Given the description of an element on the screen output the (x, y) to click on. 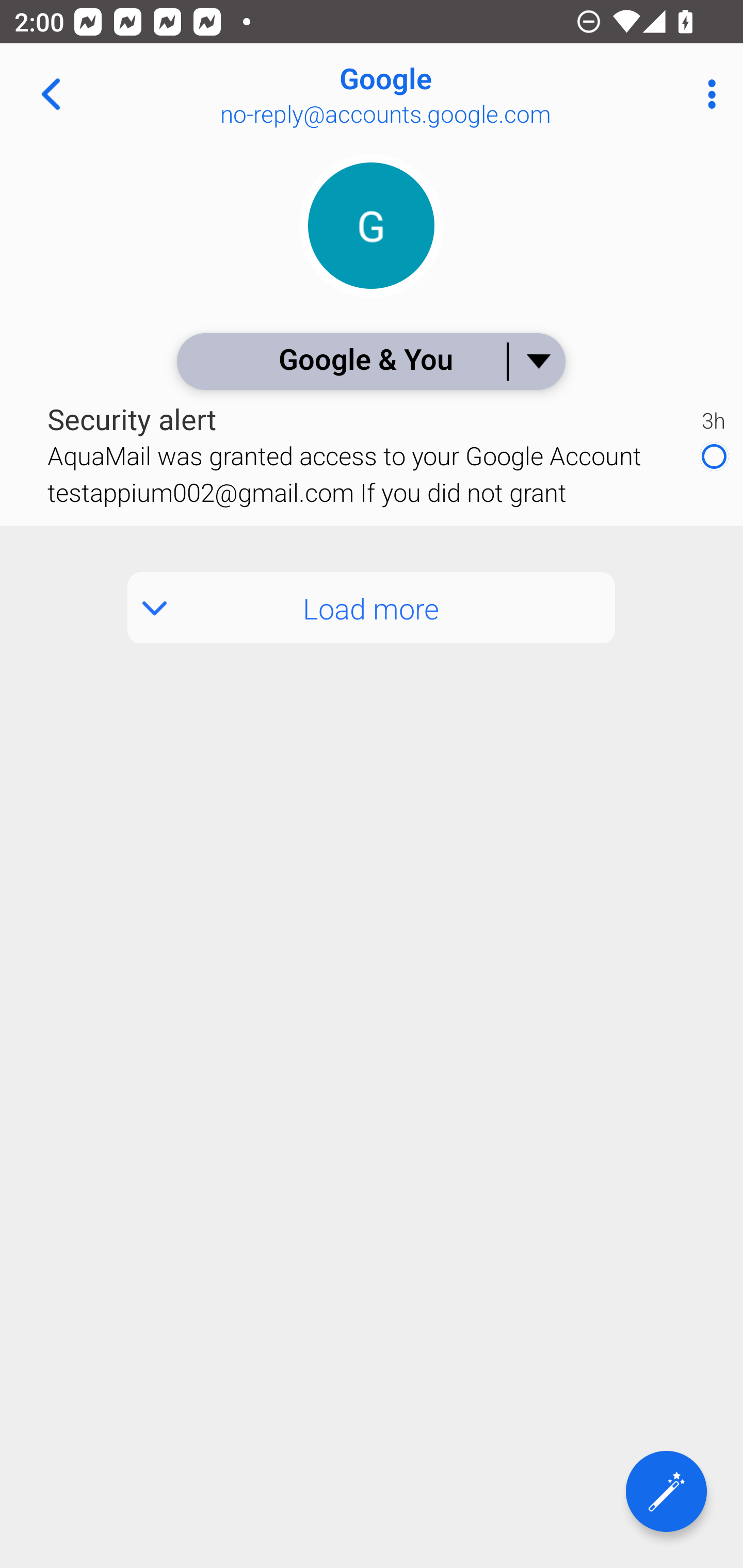
Navigate up (50, 93)
Google no-reply@accounts.google.com (436, 93)
More Options (706, 93)
Google & You (370, 361)
Load more (371, 607)
